Given the description of an element on the screen output the (x, y) to click on. 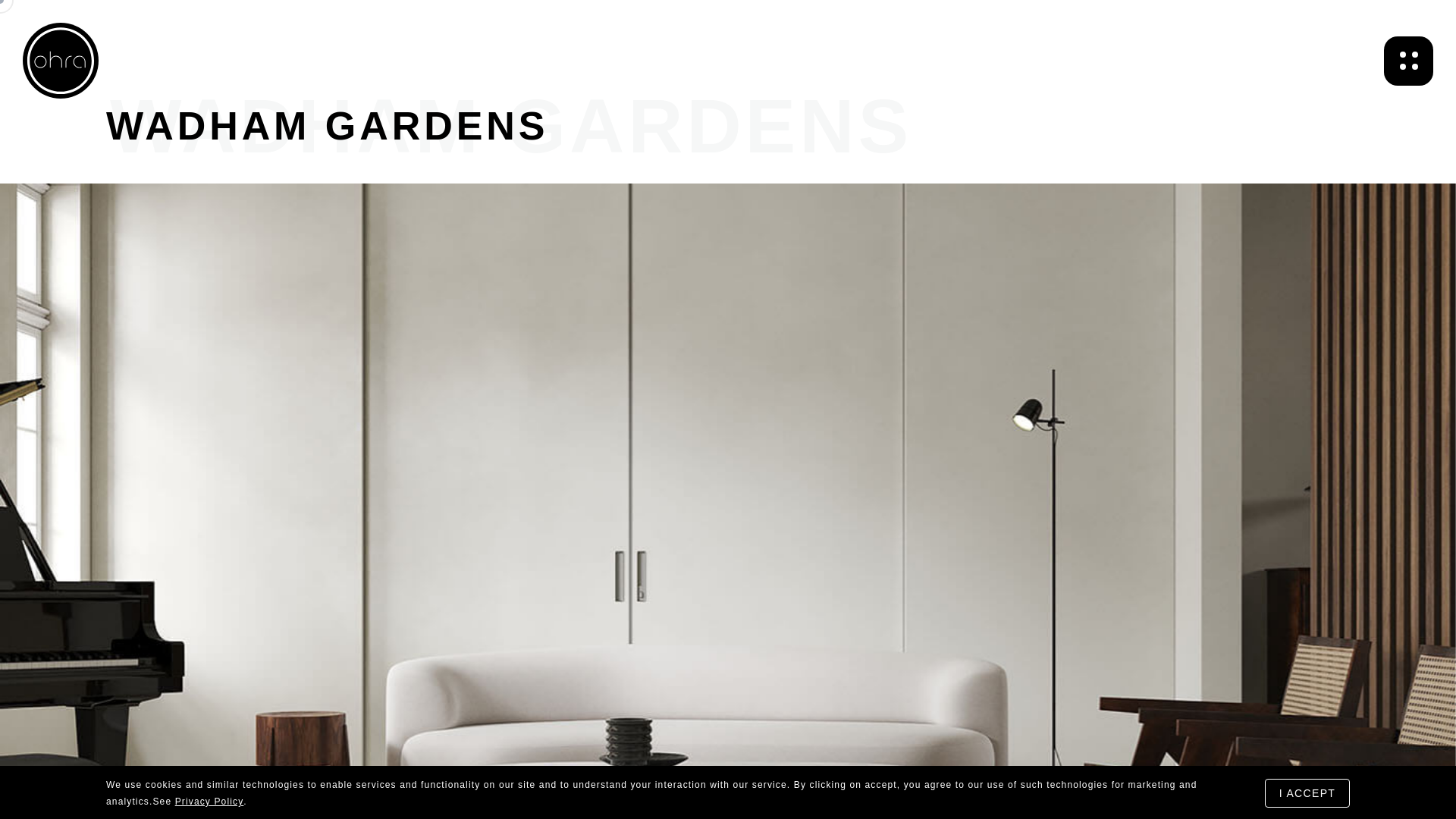
I ACCEPT (1307, 792)
Privacy Policy (209, 801)
